Given the description of an element on the screen output the (x, y) to click on. 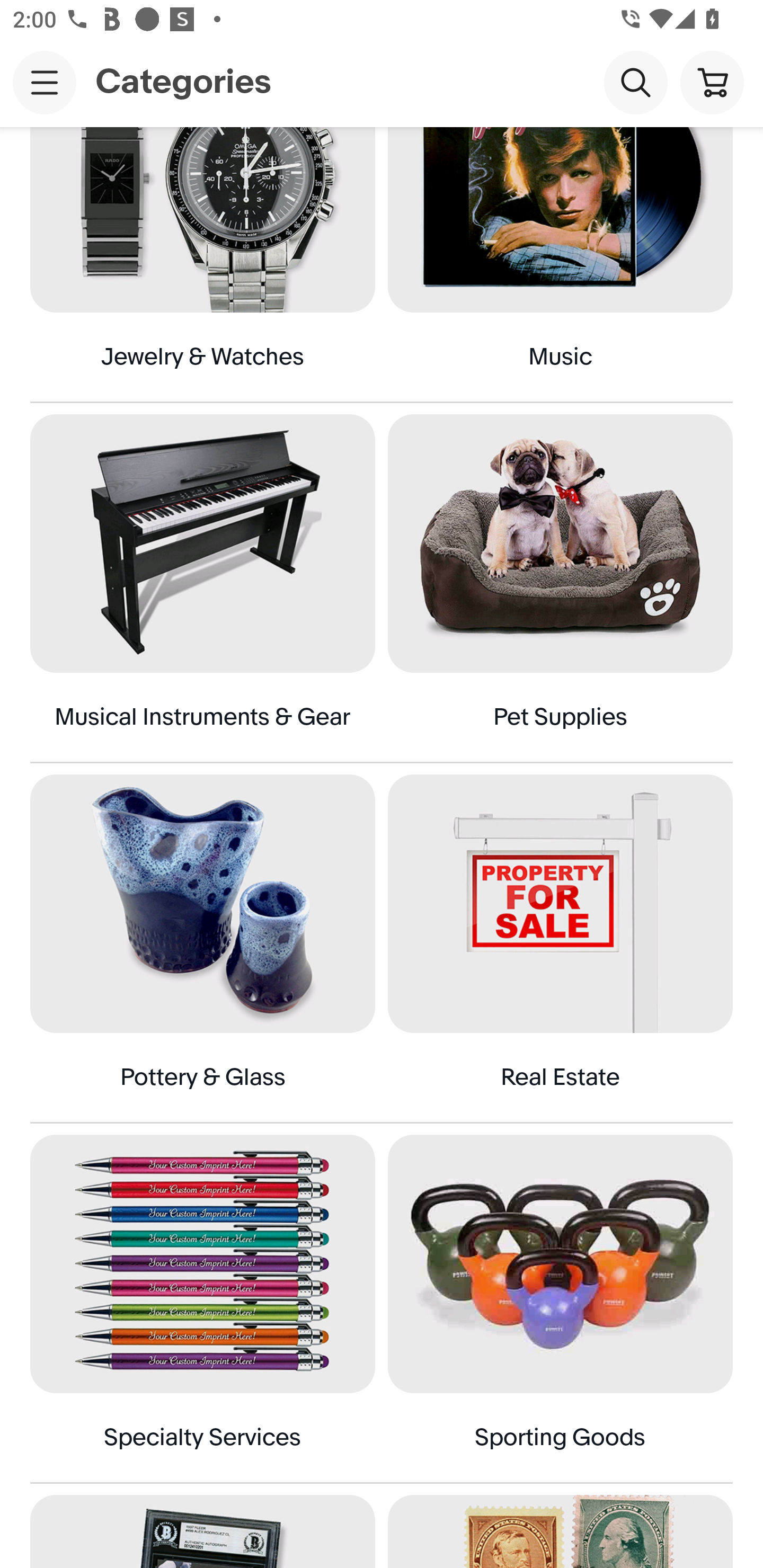
Main navigation, open (44, 82)
Search (635, 81)
Cart button shopping cart (711, 81)
Jewelry & Watches (202, 264)
Music (559, 264)
Musical Instruments & Gear (202, 587)
Pet Supplies (559, 587)
Pottery & Glass (202, 948)
Real Estate (559, 948)
Specialty Services (202, 1308)
Sporting Goods (559, 1308)
